Given the description of an element on the screen output the (x, y) to click on. 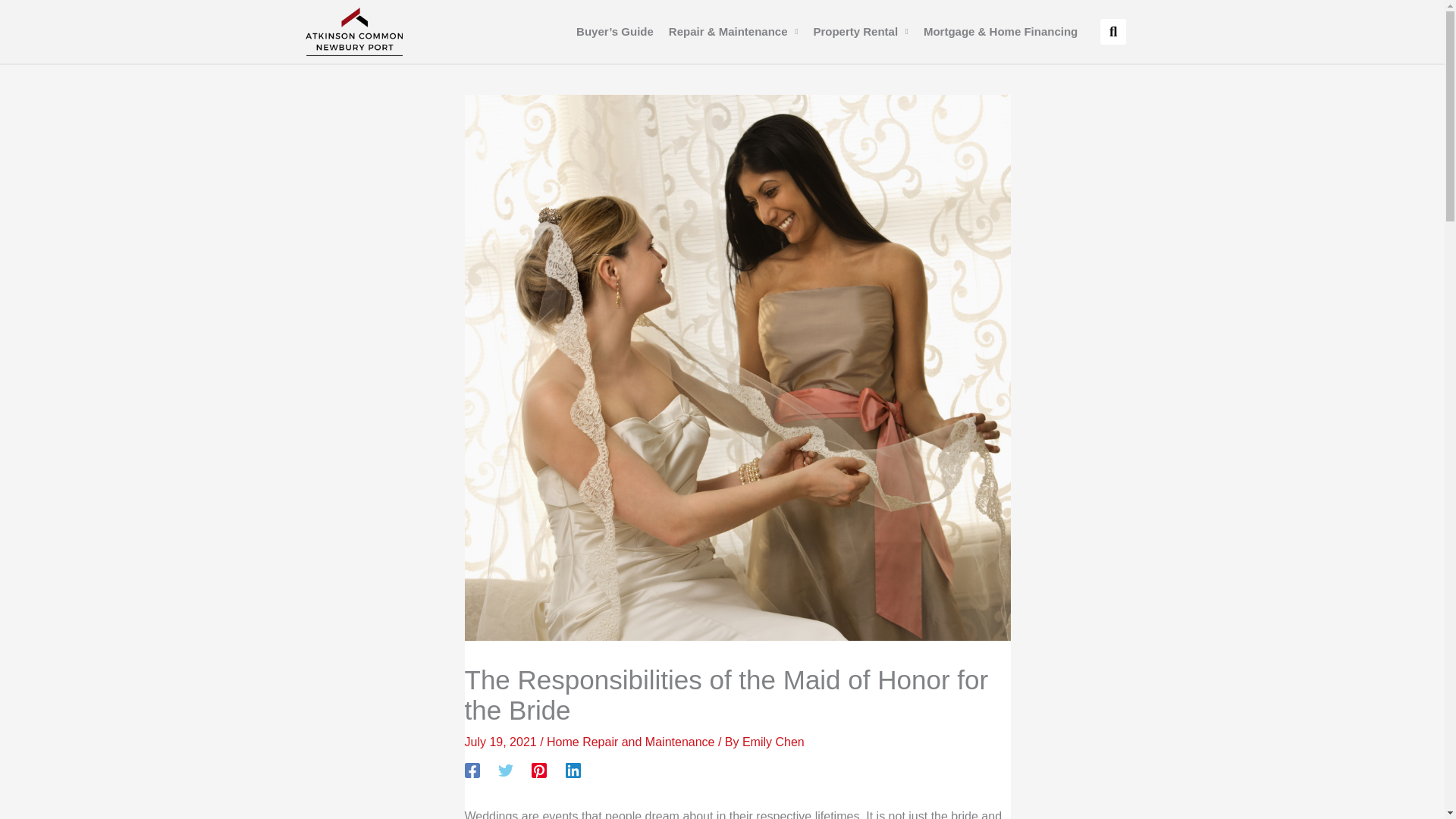
Property Rental (860, 31)
Home Repair and Maintenance (630, 741)
View all posts by Emily Chen (773, 741)
Emily Chen (773, 741)
